Given the description of an element on the screen output the (x, y) to click on. 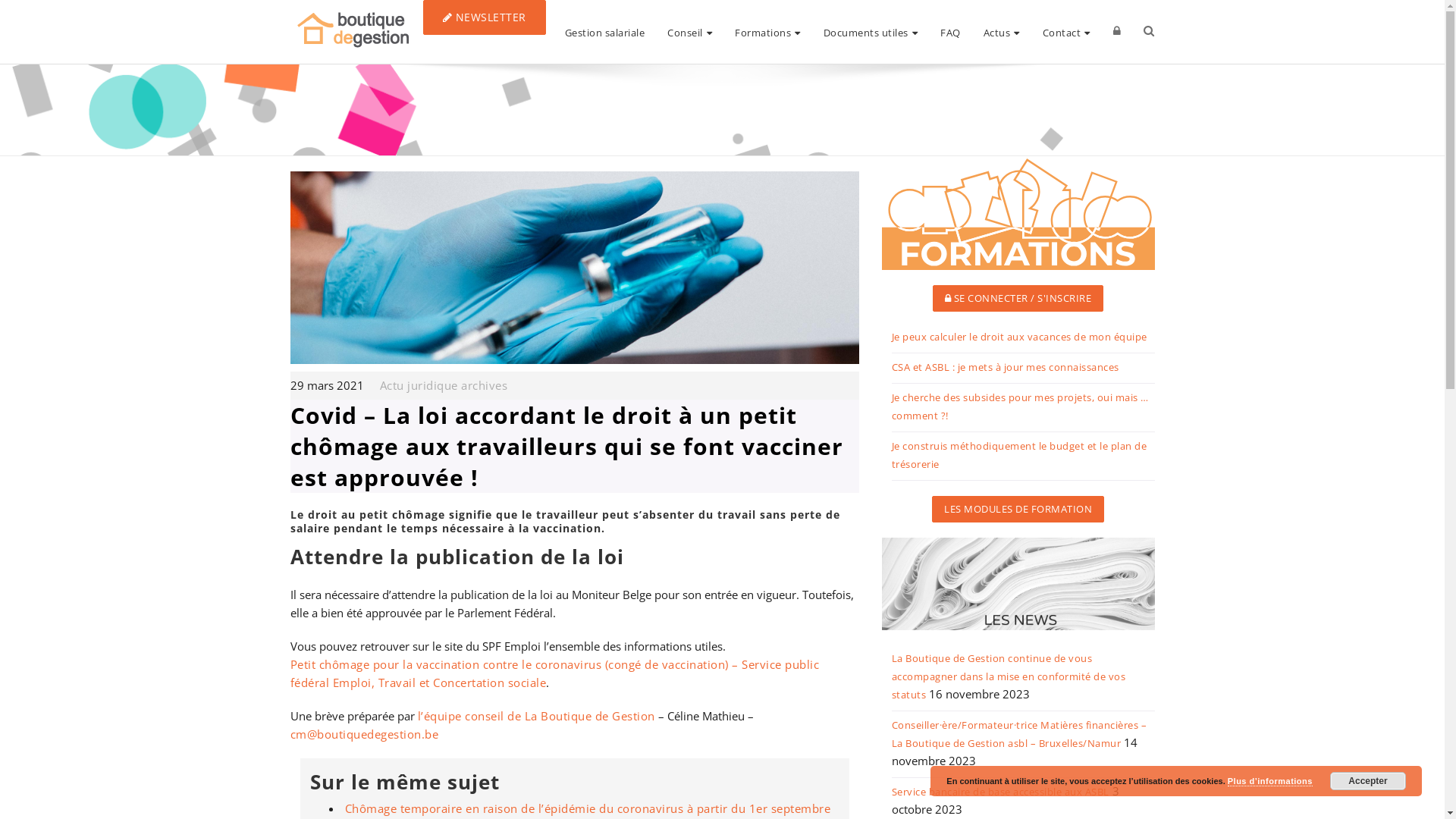
Gestion salariale Element type: text (604, 31)
SE CONNECTER / S'INSCRIRE Element type: text (1018, 298)
Actus Element type: text (1001, 31)
Documents utiles Element type: text (869, 31)
NEWSLETTER Element type: text (484, 17)
Conseil Element type: text (689, 31)
cm@boutiquedegestion.be Element type: text (363, 733)
Service bancaire de base accessible aux ASBL Element type: text (1000, 793)
Actu juridique archives Element type: text (443, 384)
Contact Element type: text (1066, 31)
Formations Element type: text (767, 31)
Accepter Element type: text (1367, 780)
LES MODULES DE FORMATION Element type: text (1017, 508)
FAQ Element type: text (950, 31)
